Given the description of an element on the screen output the (x, y) to click on. 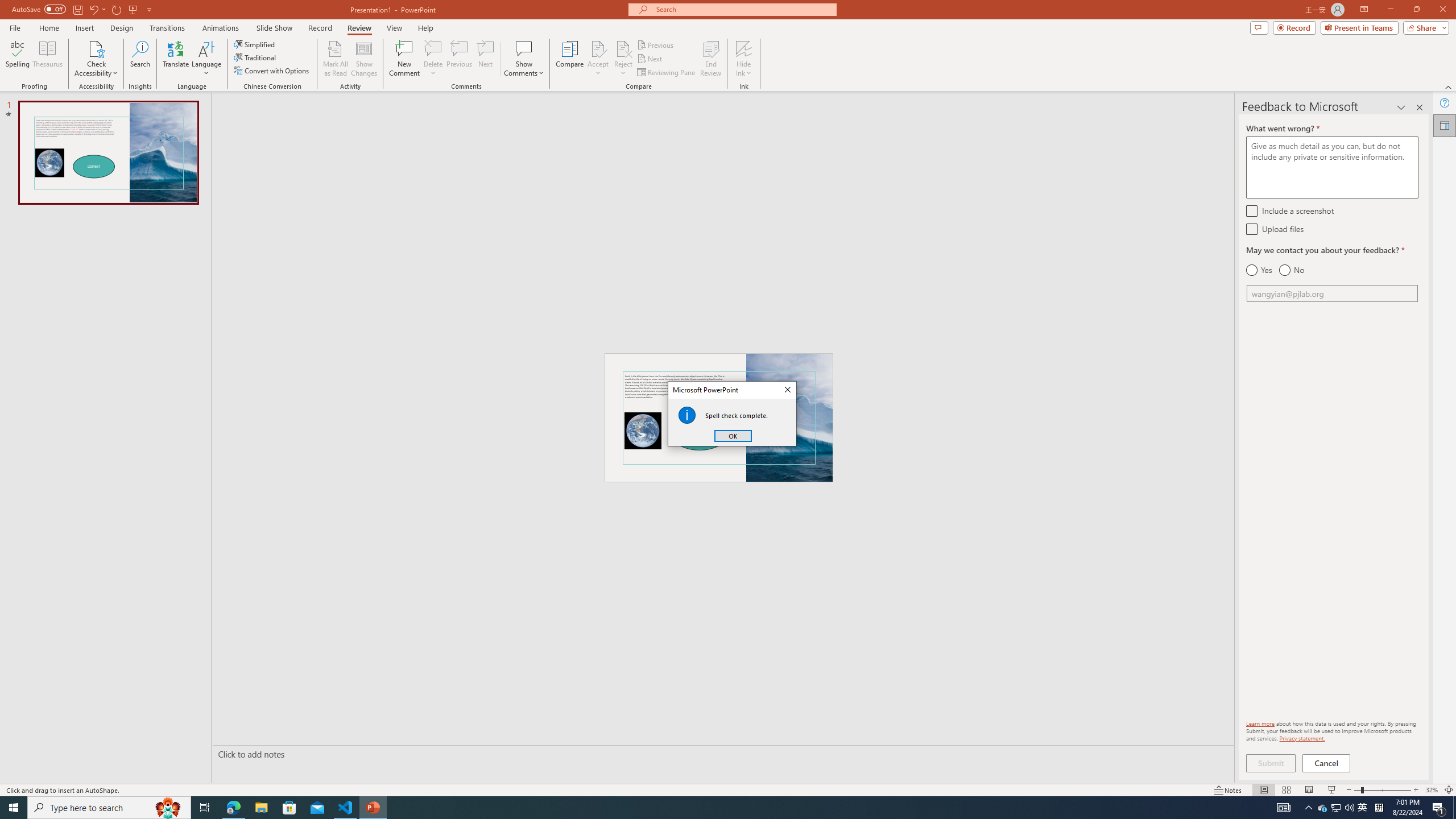
Cancel (1327, 763)
Class: Static (686, 415)
Delete (432, 48)
